Given the description of an element on the screen output the (x, y) to click on. 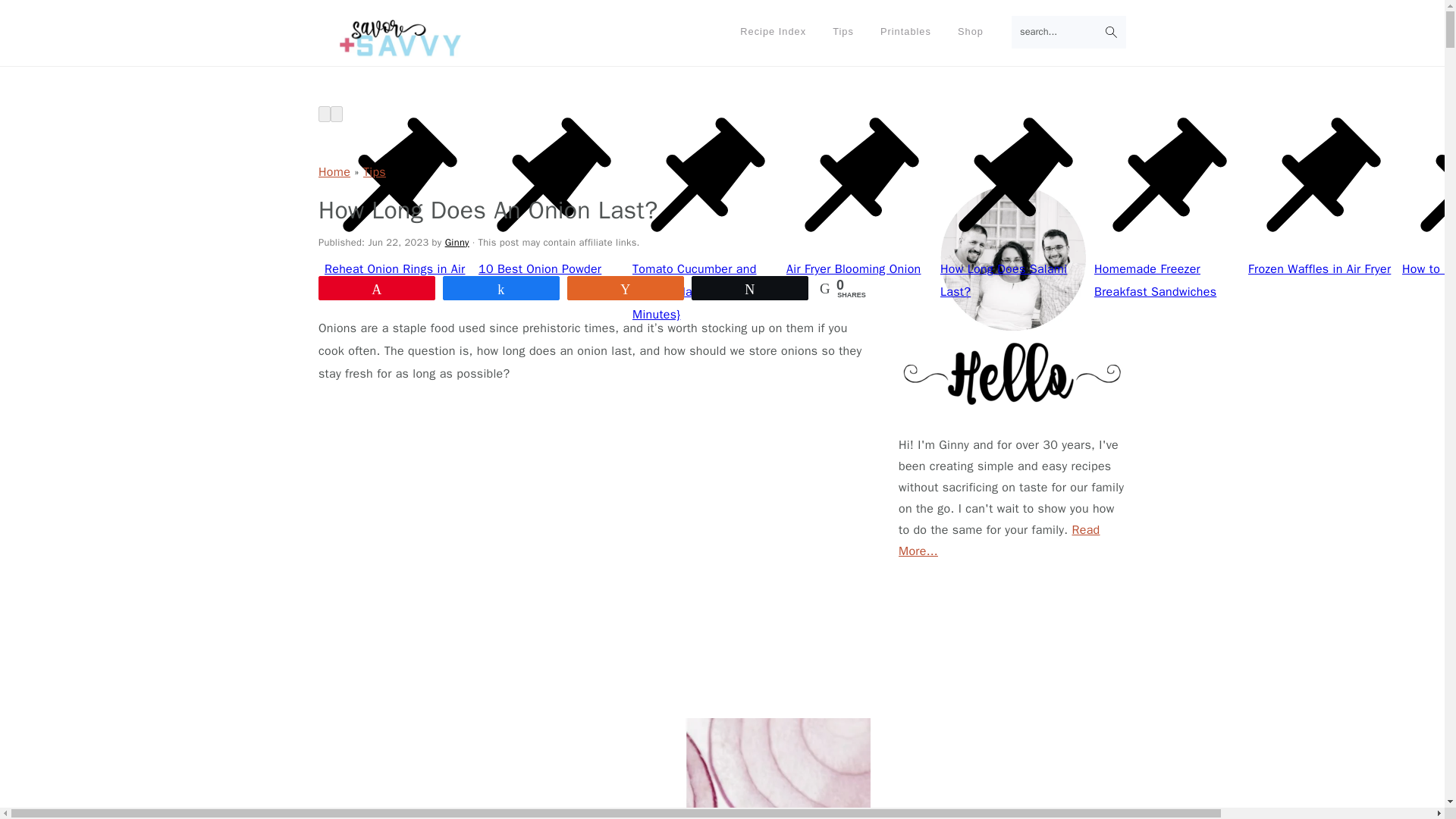
Printables (905, 32)
Shop (970, 32)
Tips (842, 32)
Ginny (456, 242)
Recipe Index (772, 32)
Home (334, 171)
Tips (373, 171)
